Given the description of an element on the screen output the (x, y) to click on. 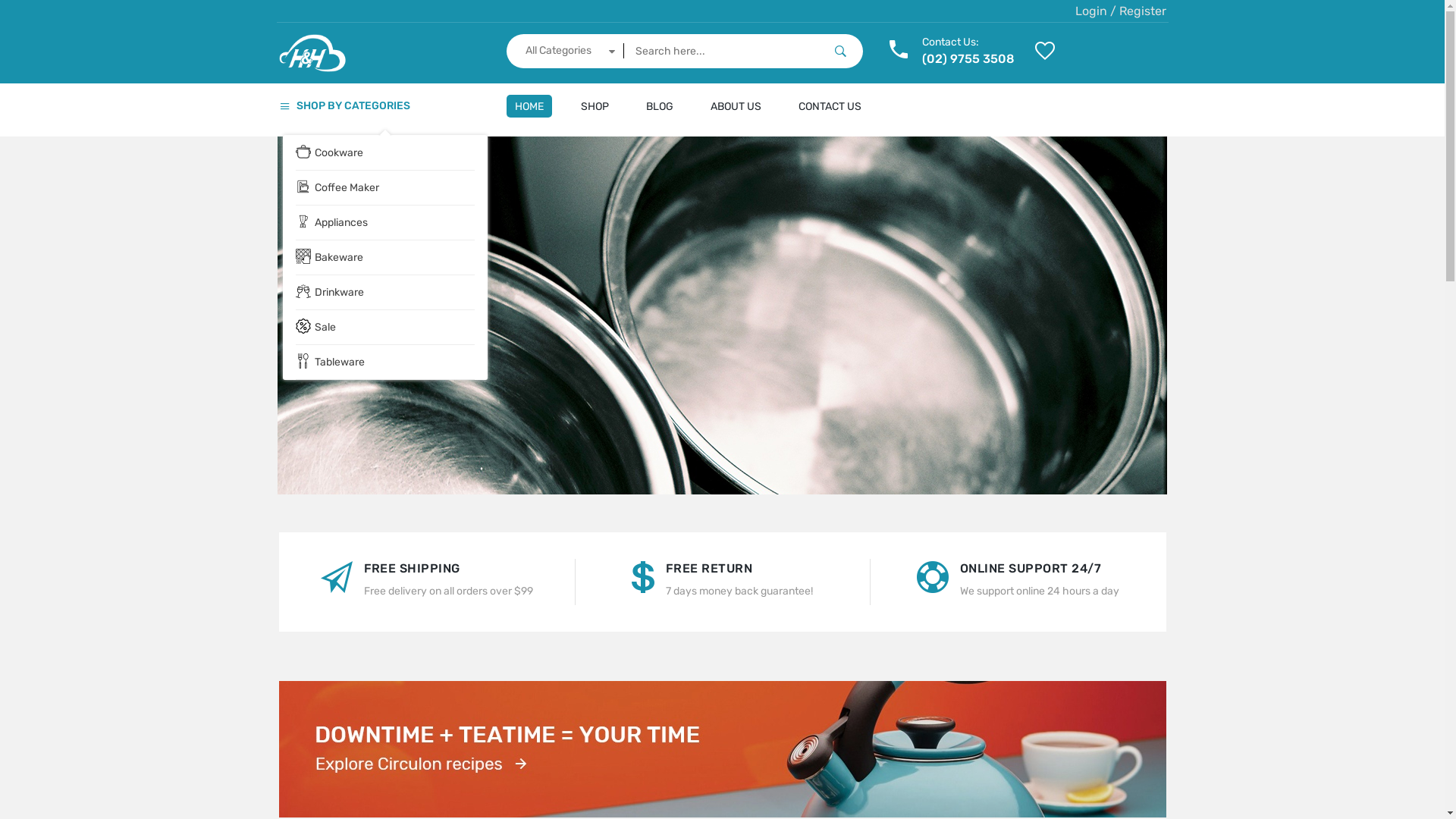
BLOG Element type: text (658, 105)
HOME Element type: text (529, 105)
CONTACT US Element type: text (829, 105)
Cookware Element type: text (384, 152)
SHOP Element type: text (593, 105)
Coffee Maker Element type: text (384, 187)
Wishlist Element type: text (287, 53)
ABOUT US Element type: text (735, 105)
Appliances Element type: text (384, 222)
Login / Register Element type: text (1120, 10)
Bakeware Element type: text (384, 257)
Tableware Element type: text (384, 362)
Drinkware Element type: text (384, 292)
Search Element type: text (840, 51)
Sale Element type: text (384, 327)
